Given the description of an element on the screen output the (x, y) to click on. 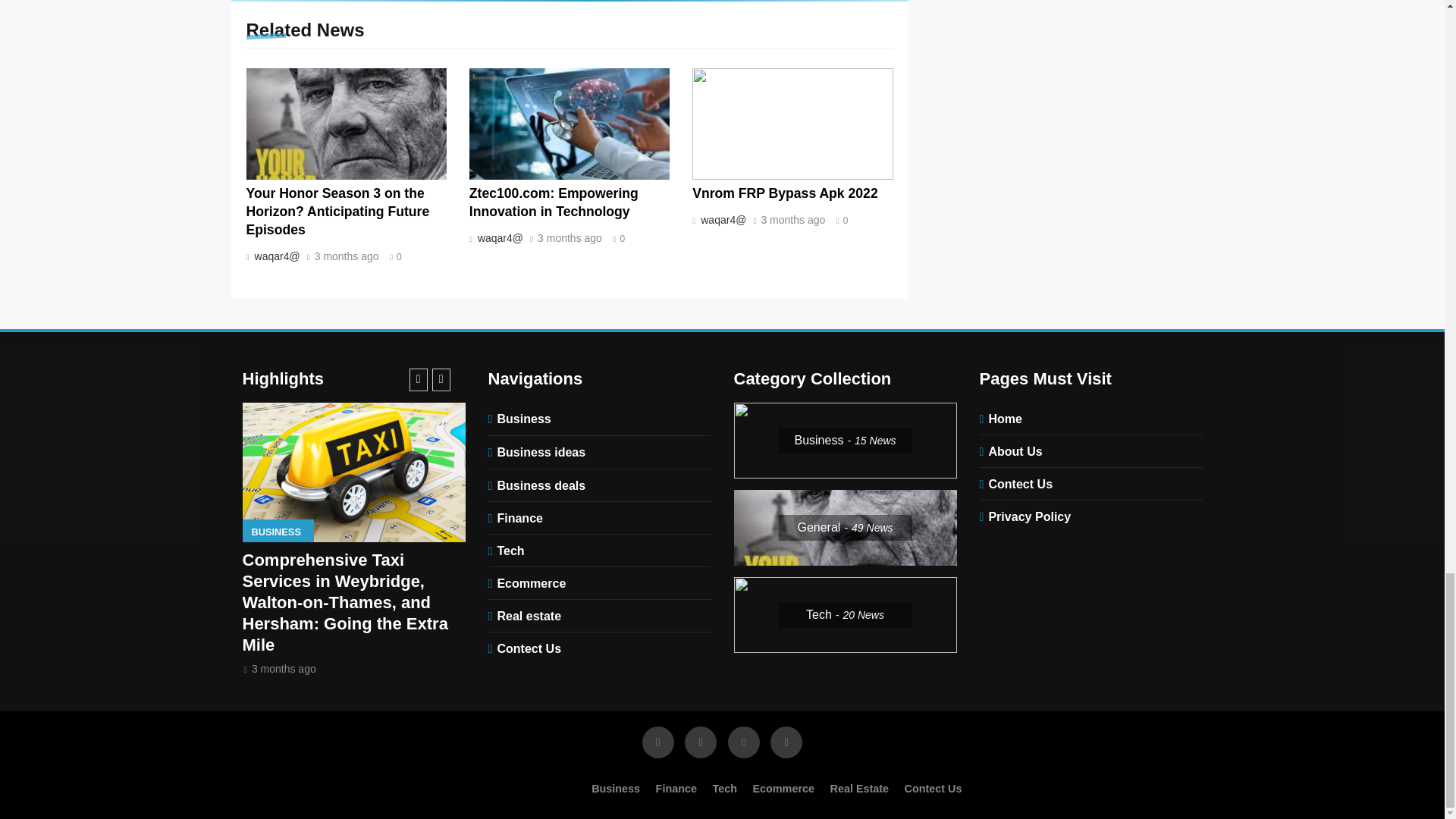
3 months ago (346, 256)
Ztec100.com: Empowering Innovation in Technology (553, 202)
